Given the description of an element on the screen output the (x, y) to click on. 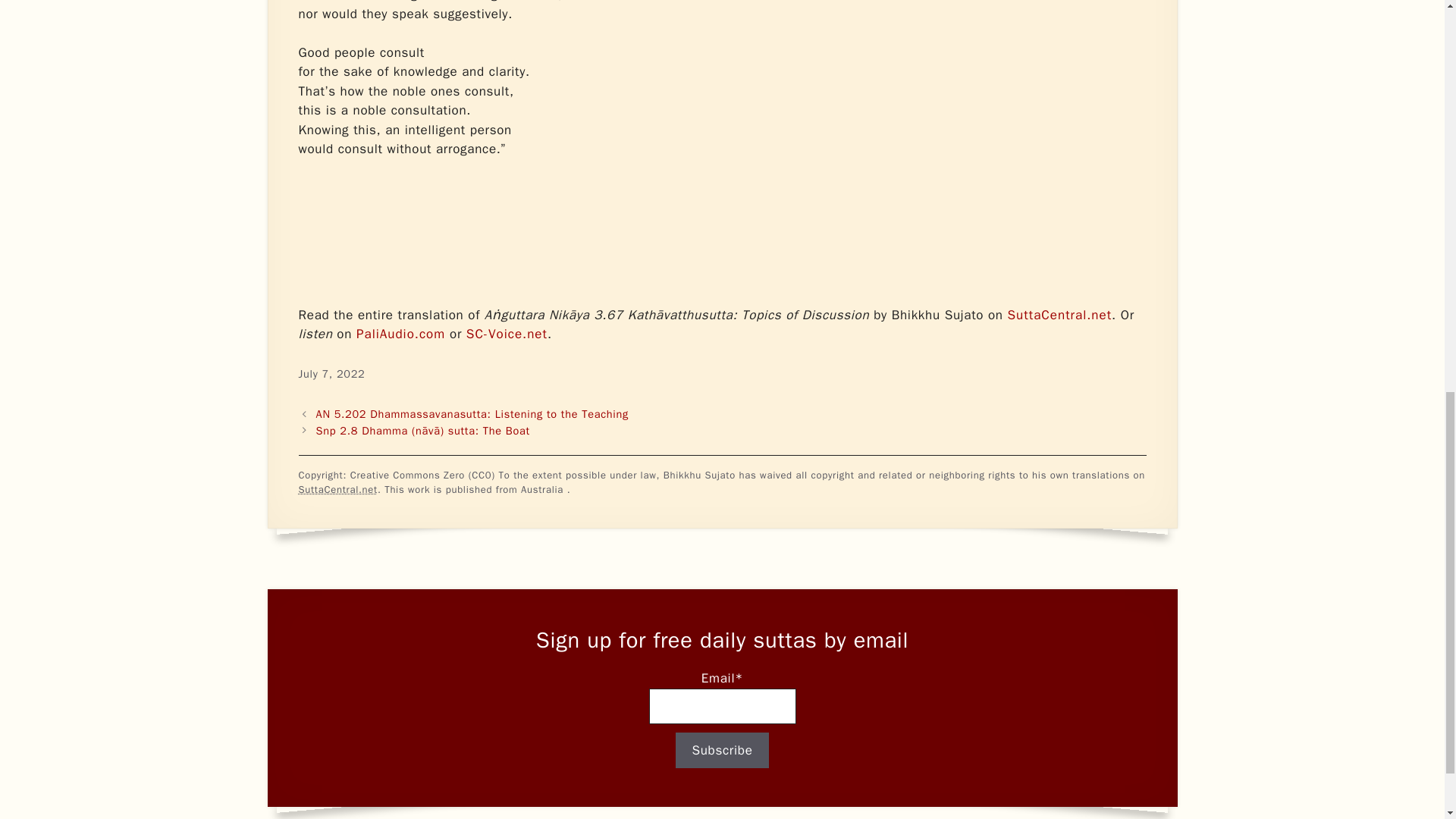
SC-Voice.net (506, 333)
SuttaCentral.net (1059, 314)
Subscribe (721, 750)
Scroll back to top (1406, 720)
SuttaCentral.net (337, 489)
Subscribe (721, 750)
AN 5.202 Dhammassavanasutta: Listening to the Teaching (471, 413)
PaliAudio.com (400, 333)
